Given the description of an element on the screen output the (x, y) to click on. 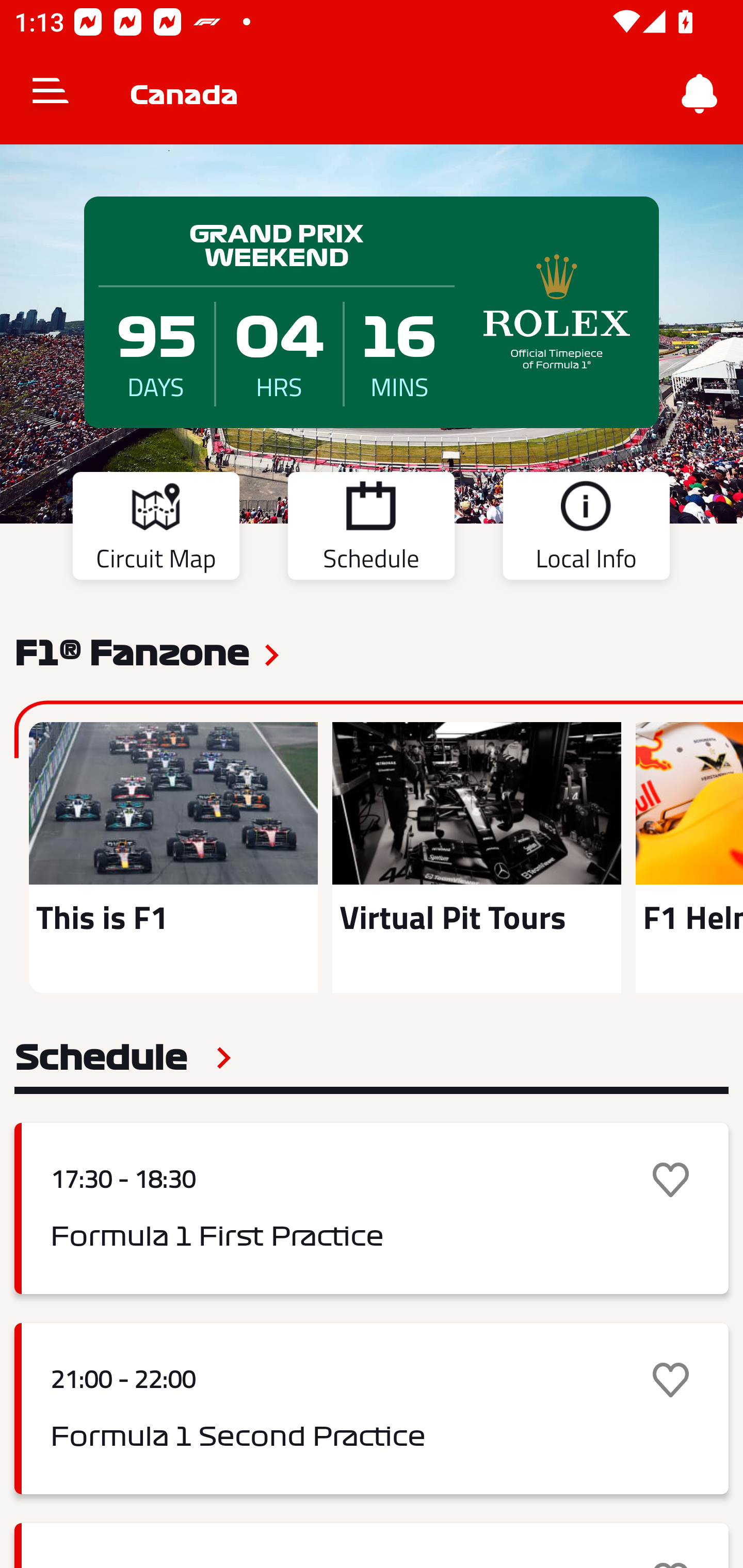
Navigate up (50, 93)
Notifications (699, 93)
Circuit Map (155, 528)
Schedule (370, 528)
Local Info (586, 528)
F1® Fanzone (131, 651)
This is F1 (173, 857)
Virtual Pit Tours (476, 857)
Schedule (122, 1057)
17:30 - 18:30 Formula 1 First Practice (371, 1207)
21:00 - 22:00 Formula 1 Second Practice (371, 1408)
